Given the description of an element on the screen output the (x, y) to click on. 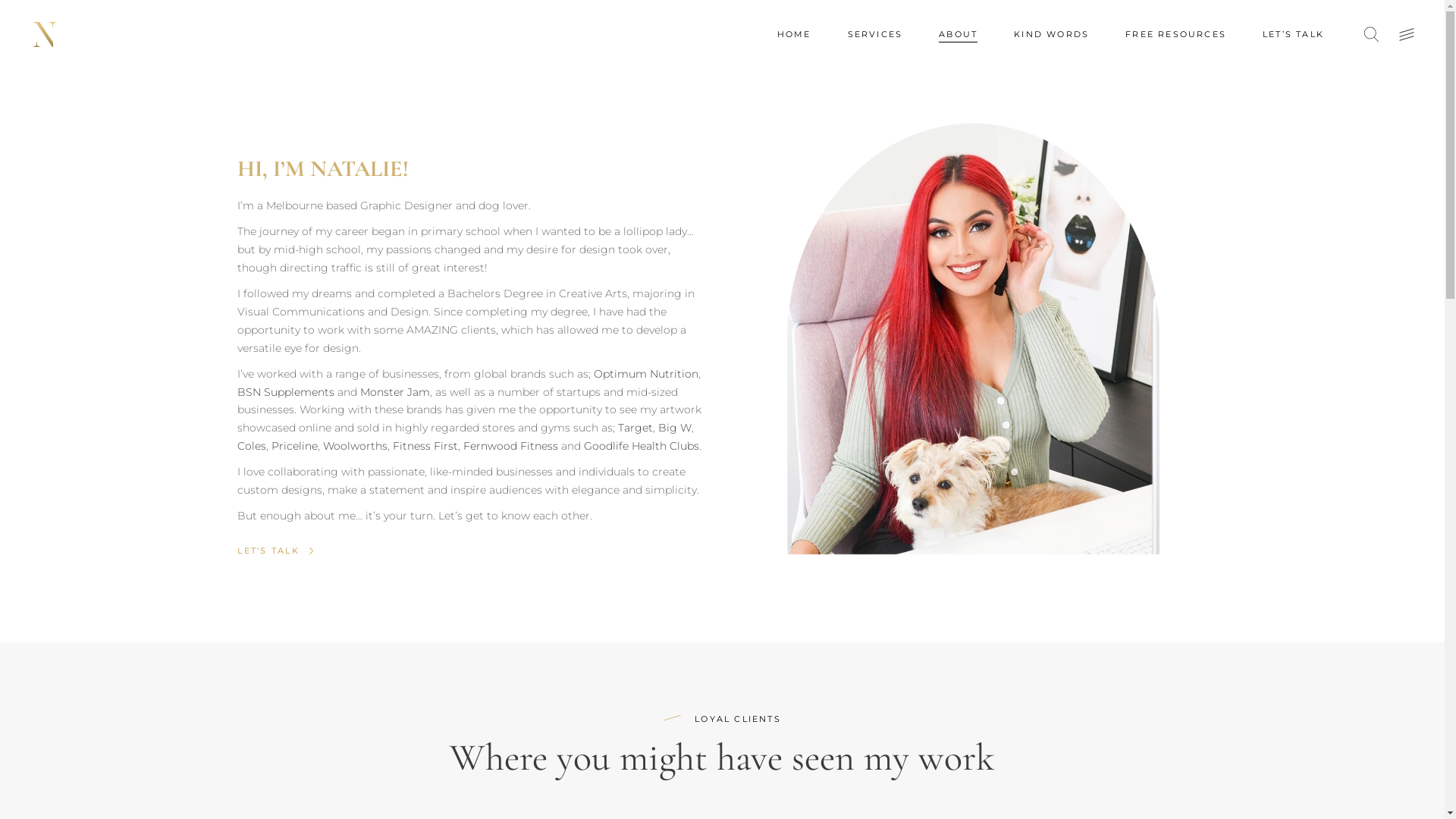
KIND WORDS Element type: text (1051, 34)
FREE RESOURCES Element type: text (1175, 34)
Target Element type: text (634, 427)
HOME Element type: text (794, 34)
Fernwood Fitness Element type: text (509, 445)
Optimum Nutrition Element type: text (645, 373)
Priceline Element type: text (294, 445)
Big W Element type: text (674, 427)
Goodlife Health Clubs Element type: text (641, 445)
Monster Jam Element type: text (394, 391)
Coles Element type: text (250, 445)
Woolworths Element type: text (355, 445)
LET'S TALK Element type: text (269, 549)
BSN Supplements Element type: text (284, 391)
ABOUT Element type: text (957, 34)
SERVICES Element type: text (875, 34)
Fitness First Element type: text (425, 445)
